Given the description of an element on the screen output the (x, y) to click on. 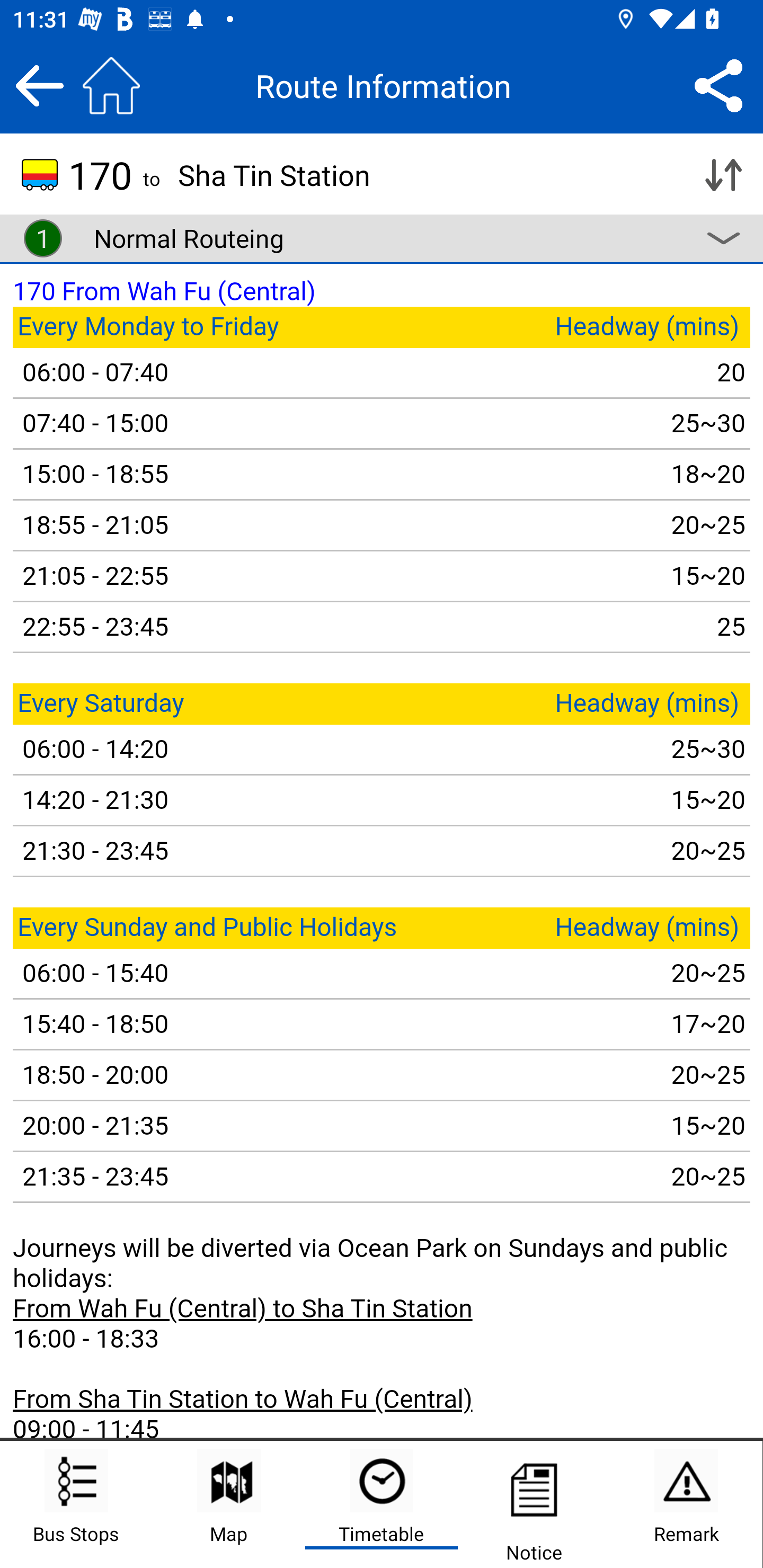
Jump to home page (111, 85)
Share point to point route search criteria) (718, 85)
Back (39, 85)
Reverse direction (723, 174)
Other routes (723, 238)
Bus Stops (76, 1504)
Map (228, 1504)
Timetable (381, 1504)
Notice (533, 1504)
Remark (686, 1504)
